Given the description of an element on the screen output the (x, y) to click on. 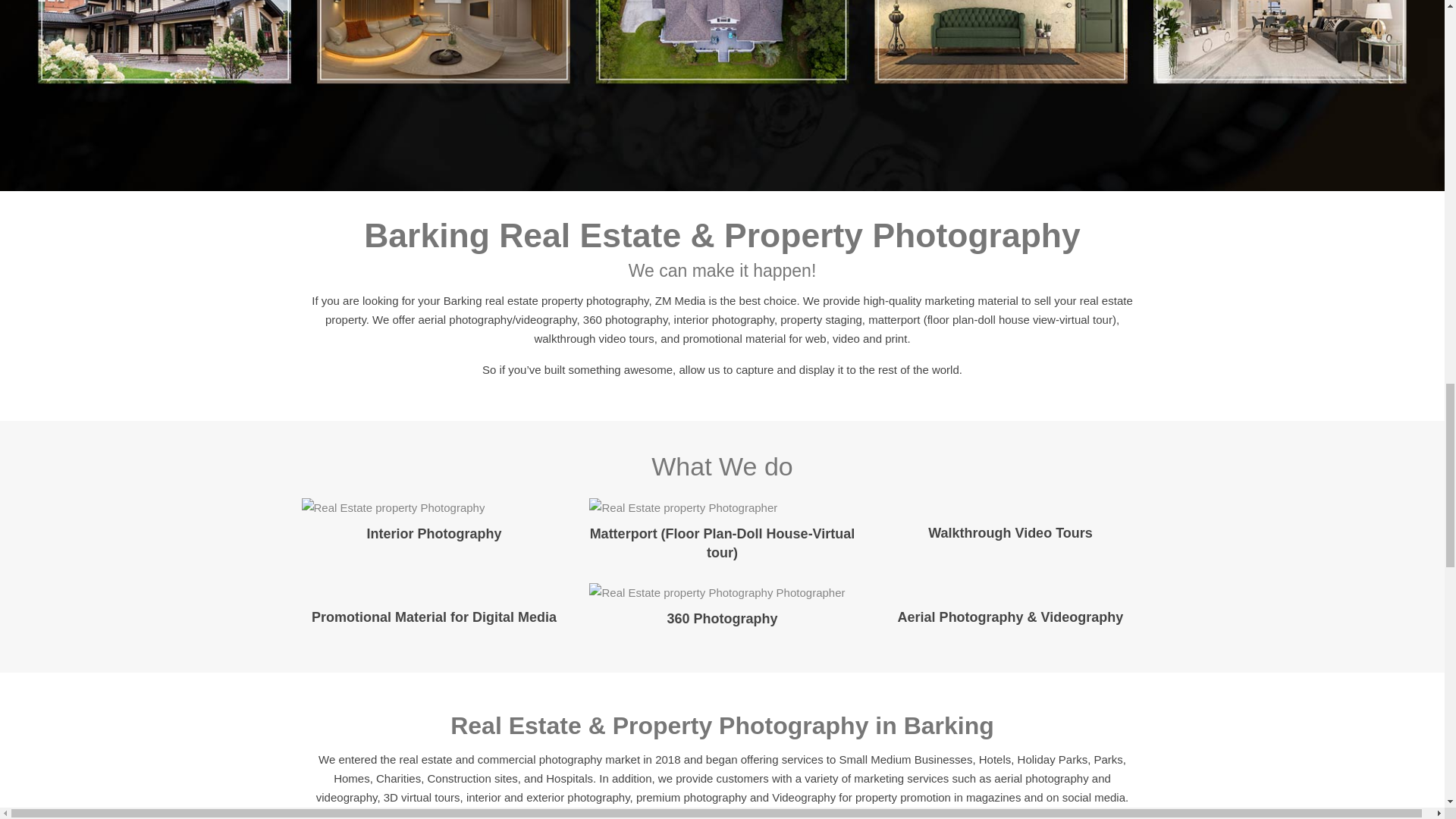
Interior Photography (433, 533)
